Given the description of an element on the screen output the (x, y) to click on. 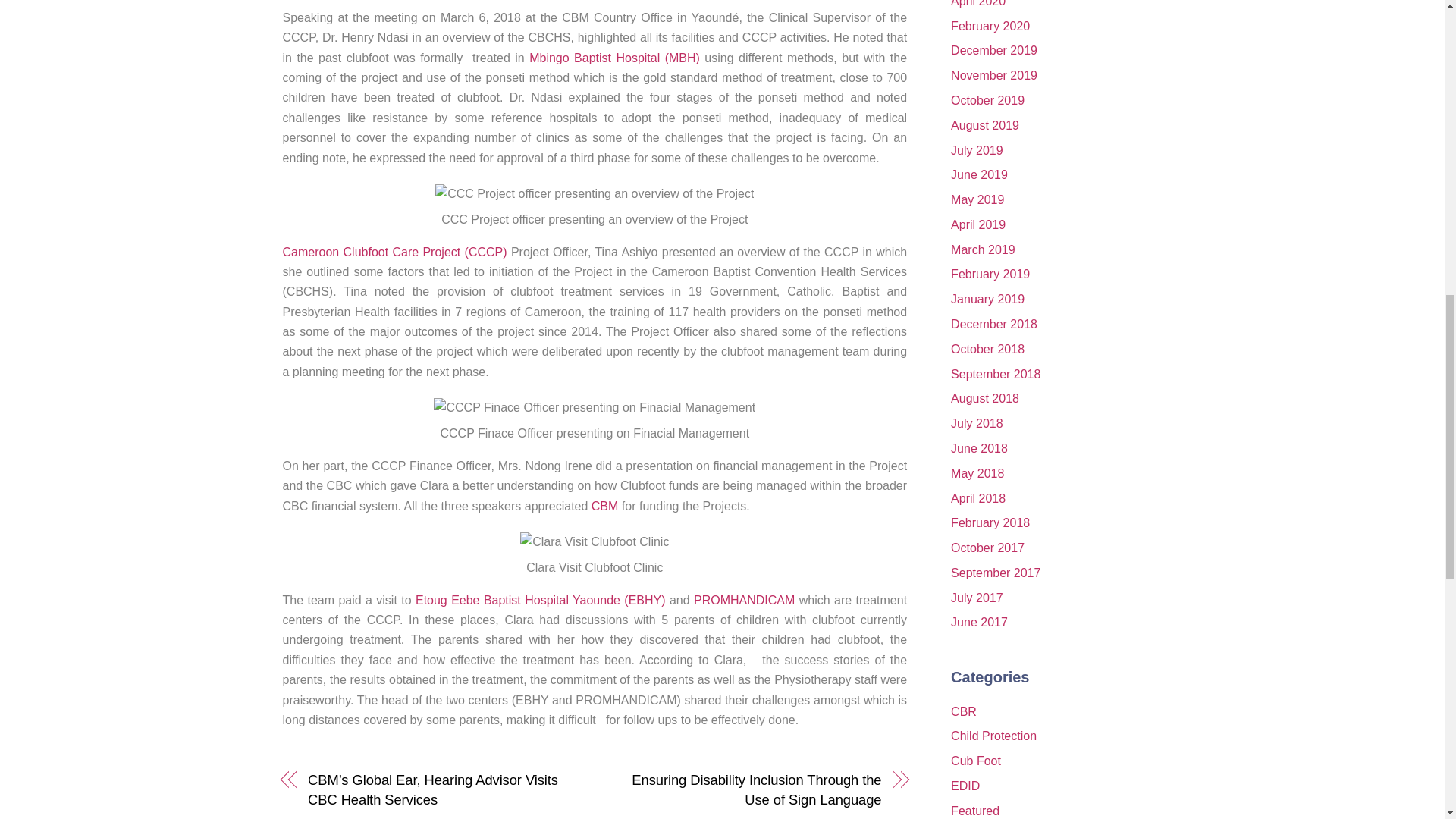
PROMHANDICAM (744, 599)
CBM (604, 505)
